Given the description of an element on the screen output the (x, y) to click on. 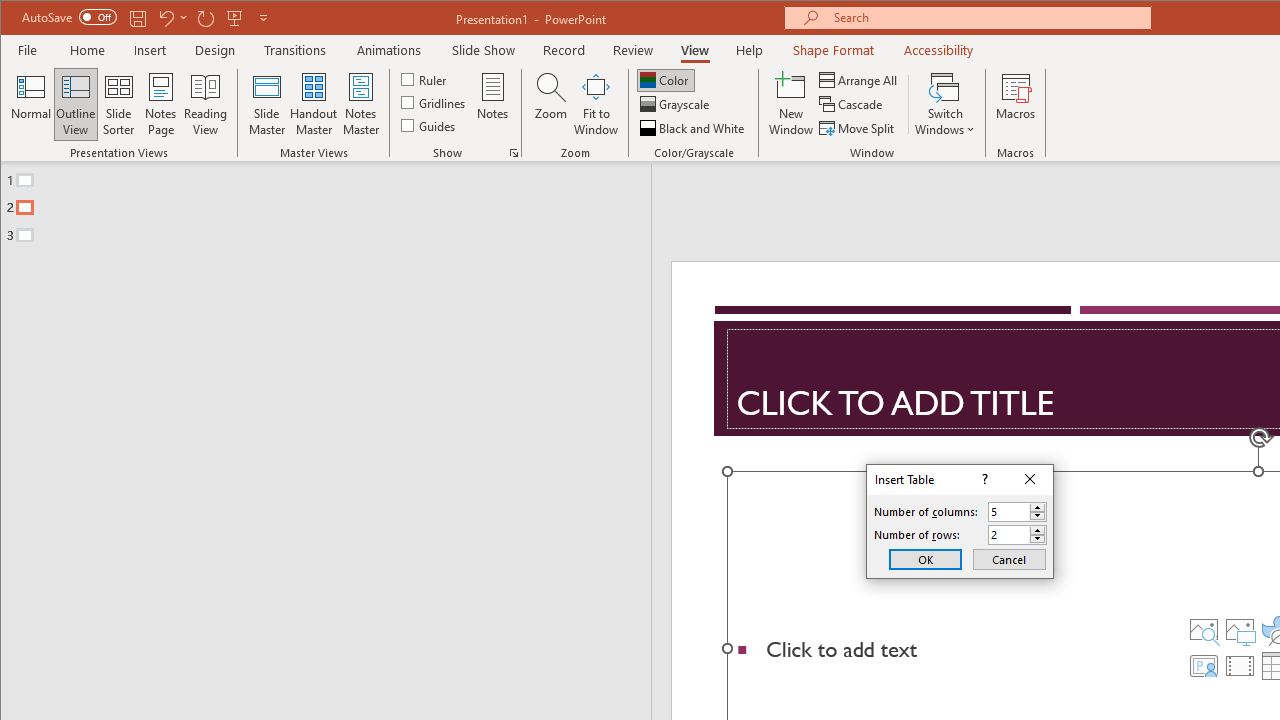
New Window (791, 104)
Arrange All (859, 80)
Macros (1016, 104)
Outline (334, 203)
Pictures (1239, 629)
Insert Video (1239, 665)
Context help (983, 480)
Ruler (425, 78)
Grayscale (676, 103)
Stock Images (1203, 629)
